Given the description of an element on the screen output the (x, y) to click on. 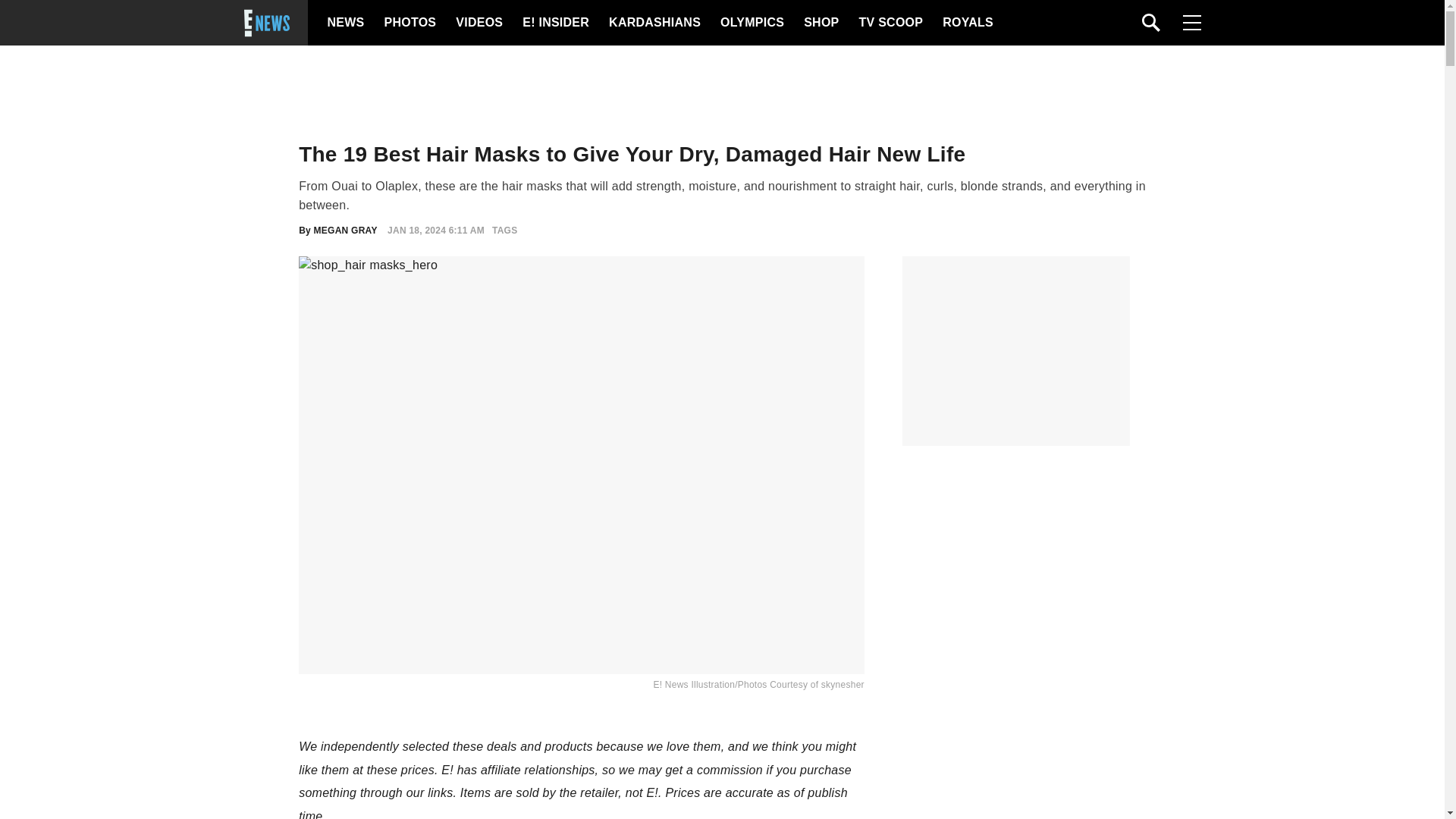
OLYMPICS (751, 22)
KARDASHIANS (653, 22)
ROYALS (966, 22)
TV SCOOP (890, 22)
MEGAN GRAY (345, 230)
PHOTOS (408, 22)
SHOP (820, 22)
E! INSIDER (555, 22)
VIDEOS (478, 22)
NEWS (345, 22)
